Given the description of an element on the screen output the (x, y) to click on. 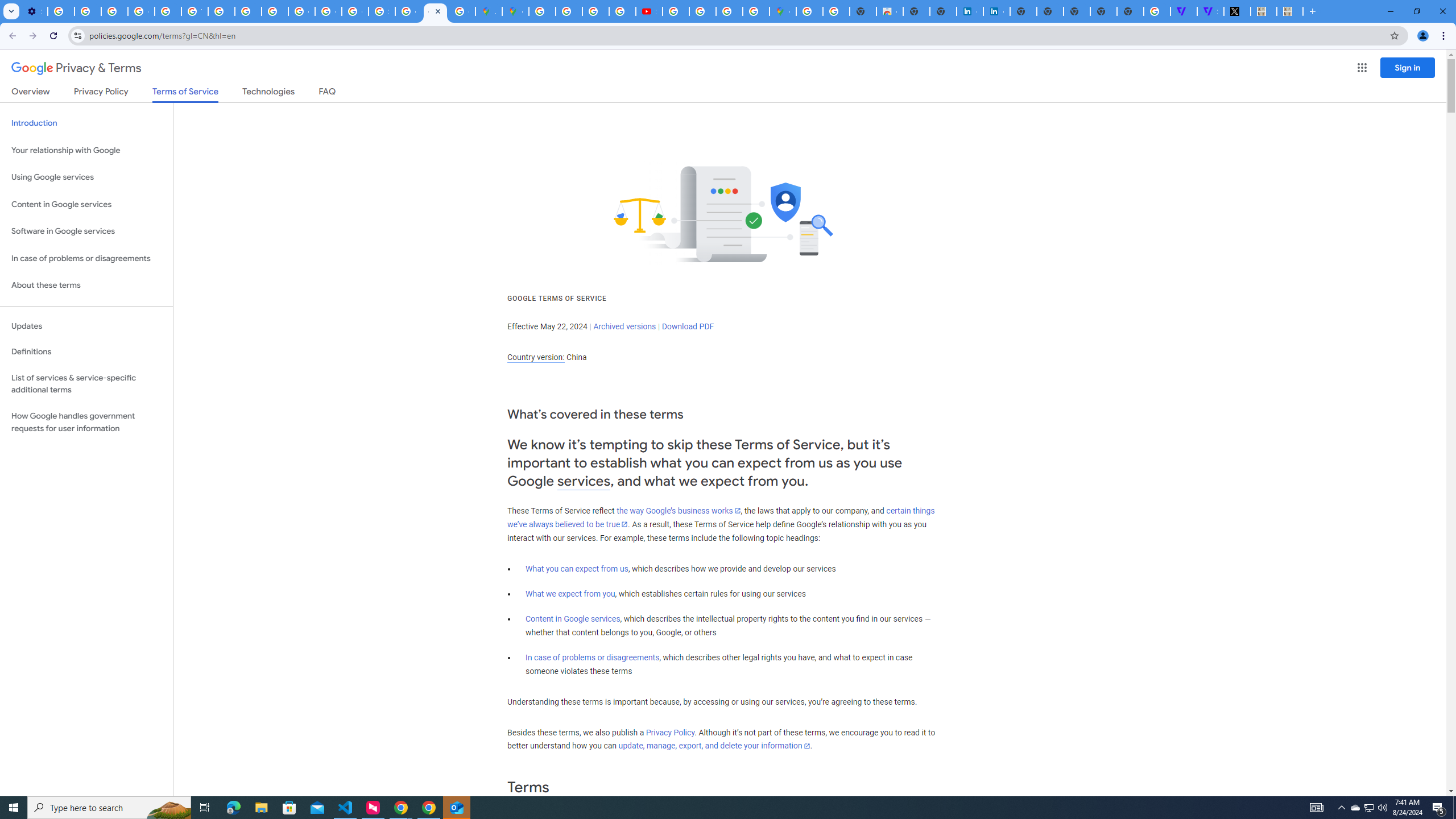
Your relationship with Google (86, 150)
MILEY CYRUS. (1262, 11)
Learn how to find your photos - Google Photos Help (87, 11)
Privacy Help Center - Policies Help (569, 11)
Streaming - The Verge (1210, 11)
Chrome Web Store (889, 11)
